Given the description of an element on the screen output the (x, y) to click on. 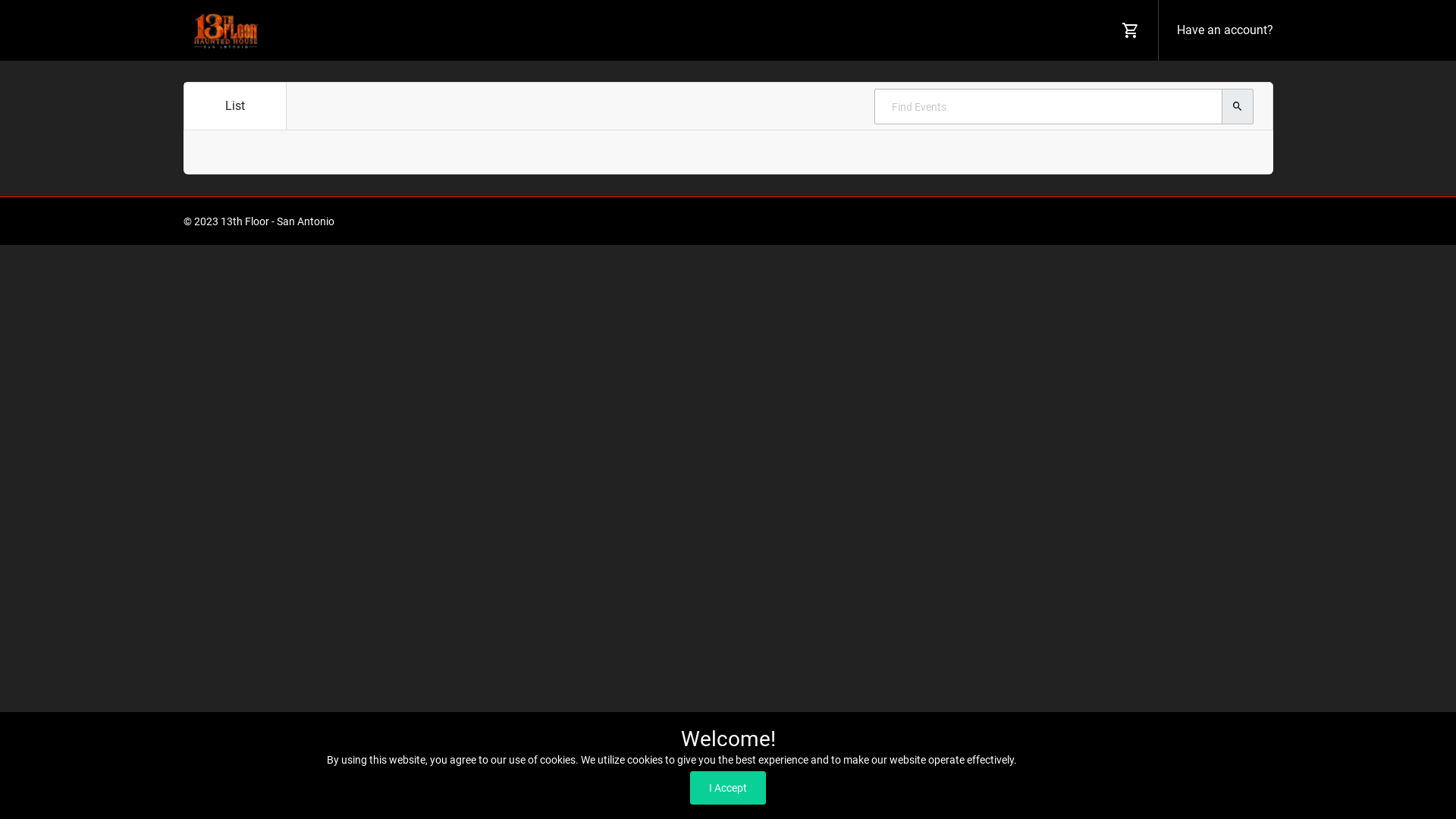
Refunds Element type: text (1252, 221)
Terms & Conditions Element type: text (1085, 221)
List Element type: text (234, 105)
Read our Privacy Policy Element type: text (1074, 759)
Home Element type: text (1016, 221)
Privacy & Security Element type: text (1182, 221)
I Accept Element type: text (727, 787)
Have an account? Element type: text (1221, 30)
